Given the description of an element on the screen output the (x, y) to click on. 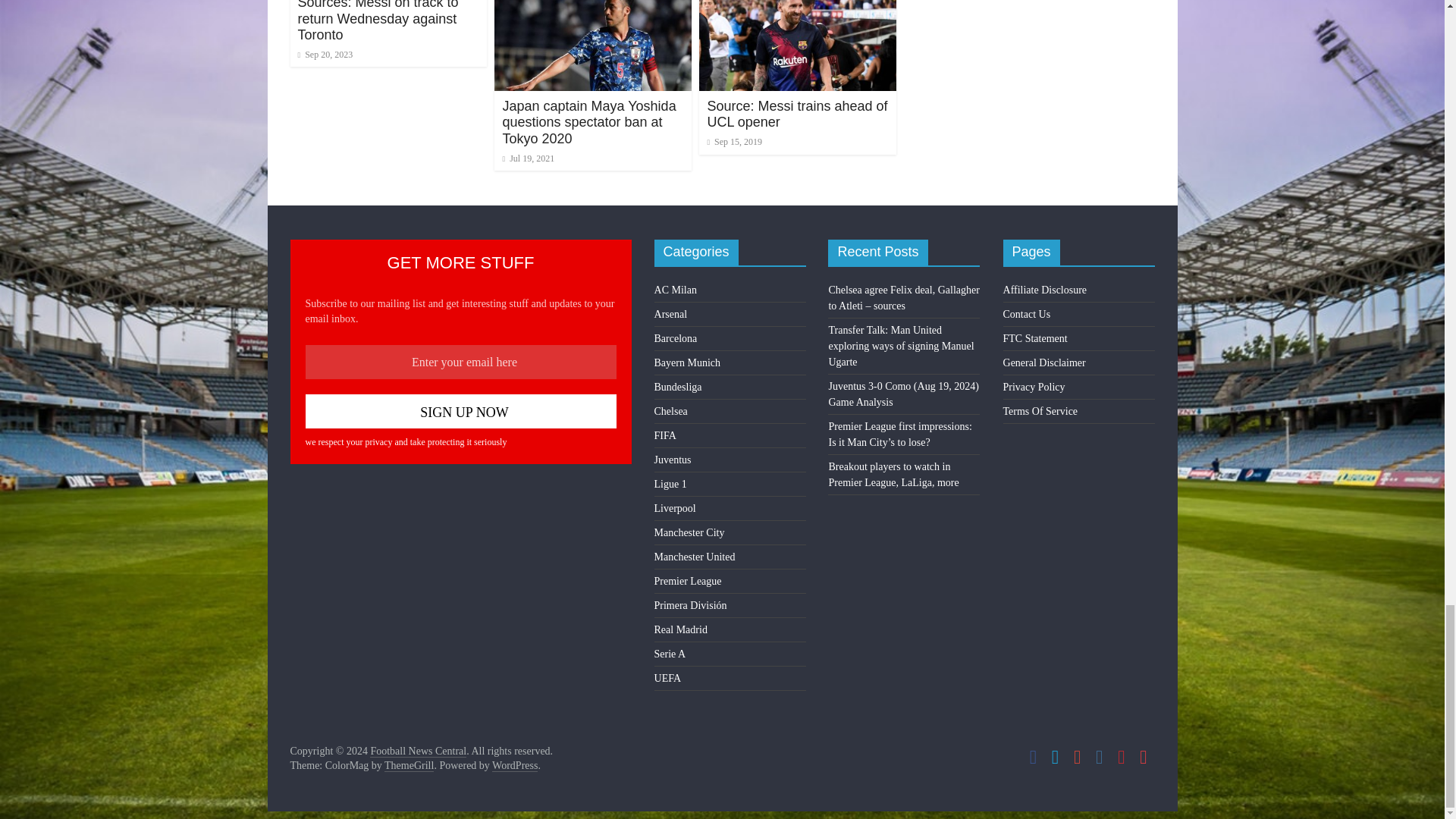
Sign Up Now (459, 410)
Sources: Messi on track to return Wednesday against Toronto (377, 21)
4:03 am (324, 54)
